Given the description of an element on the screen output the (x, y) to click on. 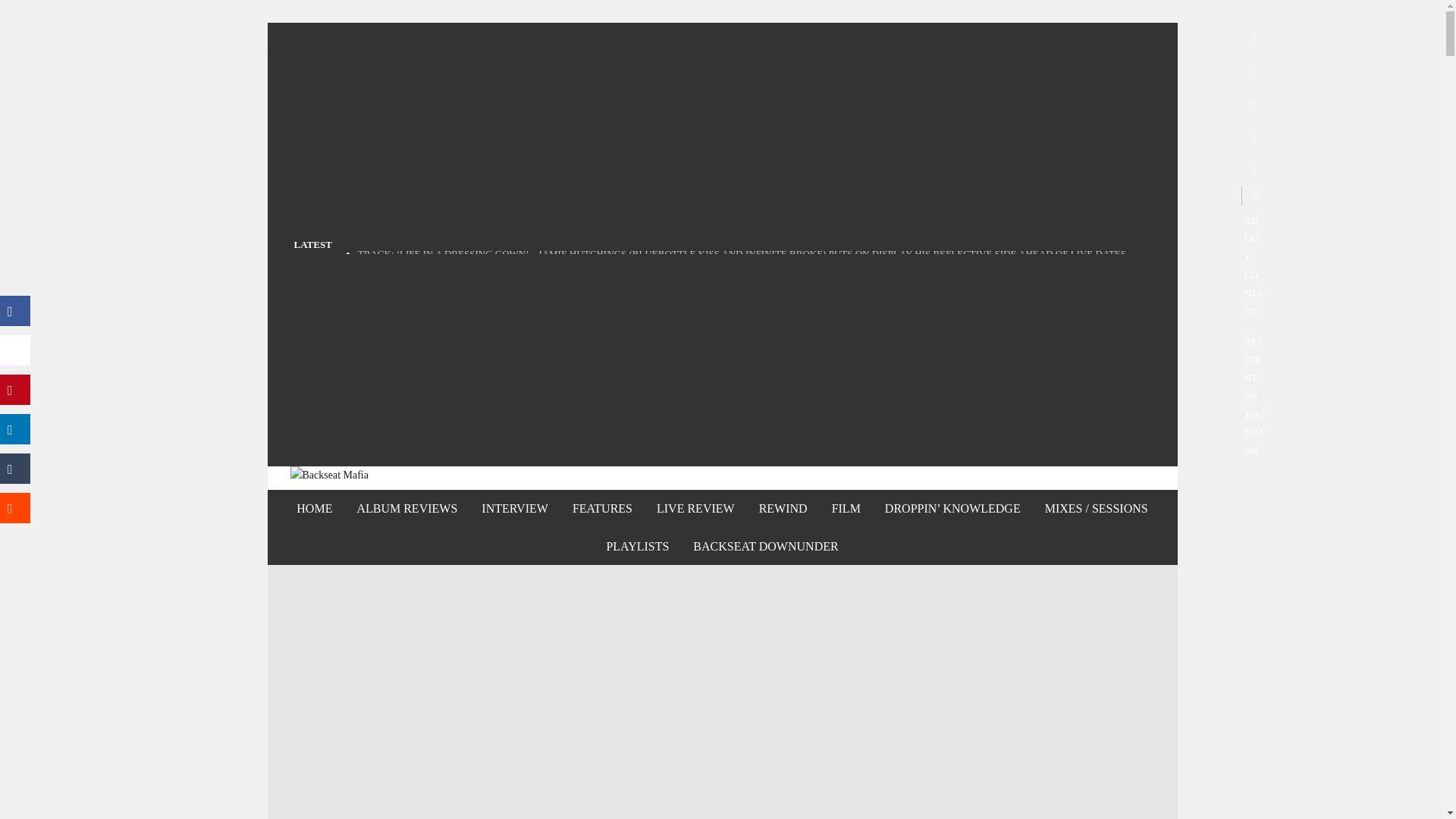
LIVE REVIEW (695, 508)
INTERVIEW (514, 508)
FEATURES (602, 508)
REWIND (782, 508)
PLAYLISTS (637, 546)
HOME (313, 508)
ALBUM REVIEWS (405, 508)
FILM (845, 508)
